Given the description of an element on the screen output the (x, y) to click on. 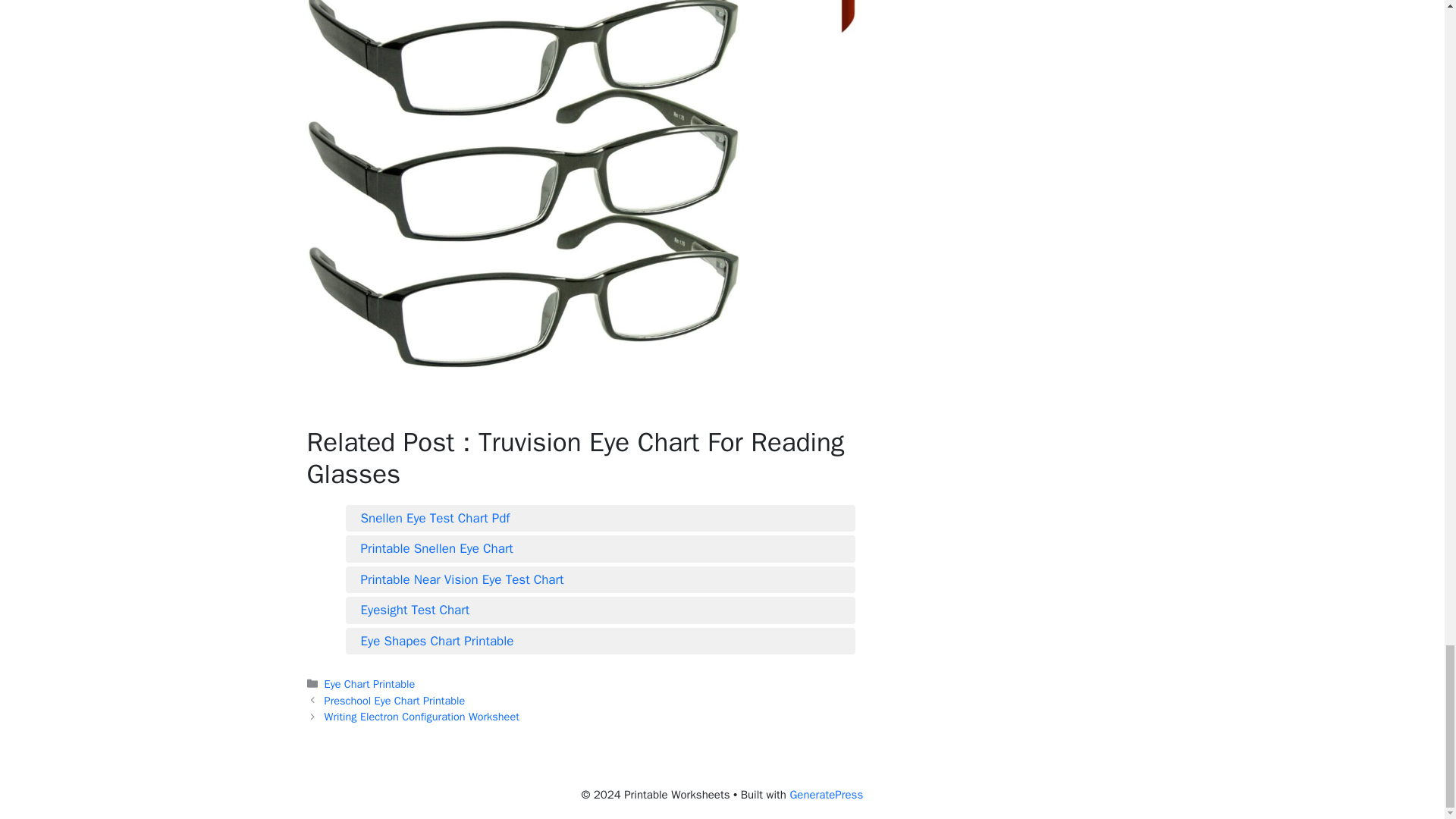
Eye Chart Printable (369, 684)
Printable Near Vision Eye Test Chart (600, 579)
Eye Shapes Chart Printable (600, 640)
GeneratePress (826, 794)
Snellen Eye Test Chart Pdf (600, 517)
Printable Snellen Eye Chart (600, 548)
Preschool Eye Chart Printable (394, 700)
Eyesight Test Chart (600, 609)
Writing Electron Configuration Worksheet (421, 716)
